Given the description of an element on the screen output the (x, y) to click on. 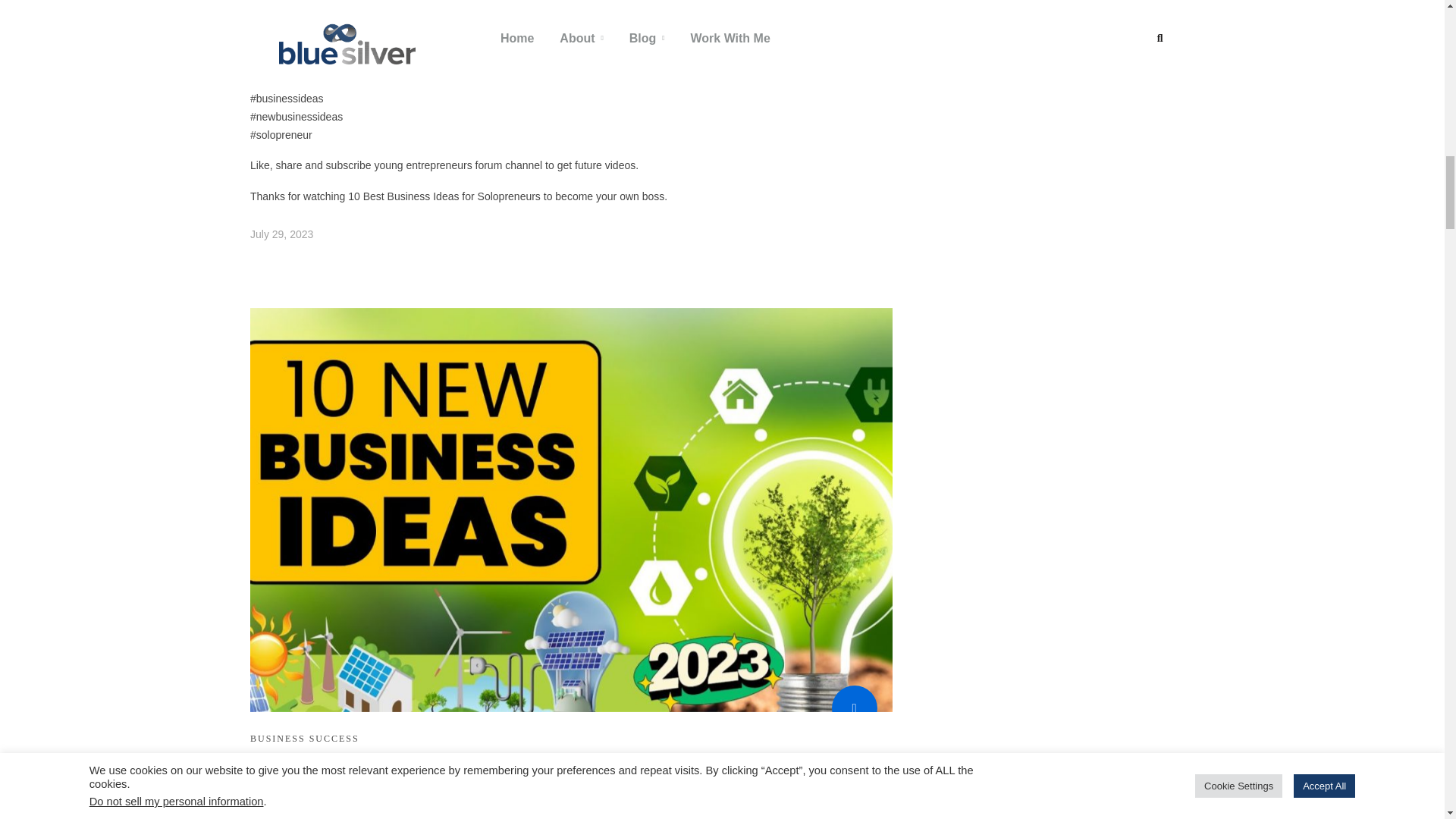
10 Best Business Ideas for Solopreneurs: Be Your Own Boss (281, 234)
